Given the description of an element on the screen output the (x, y) to click on. 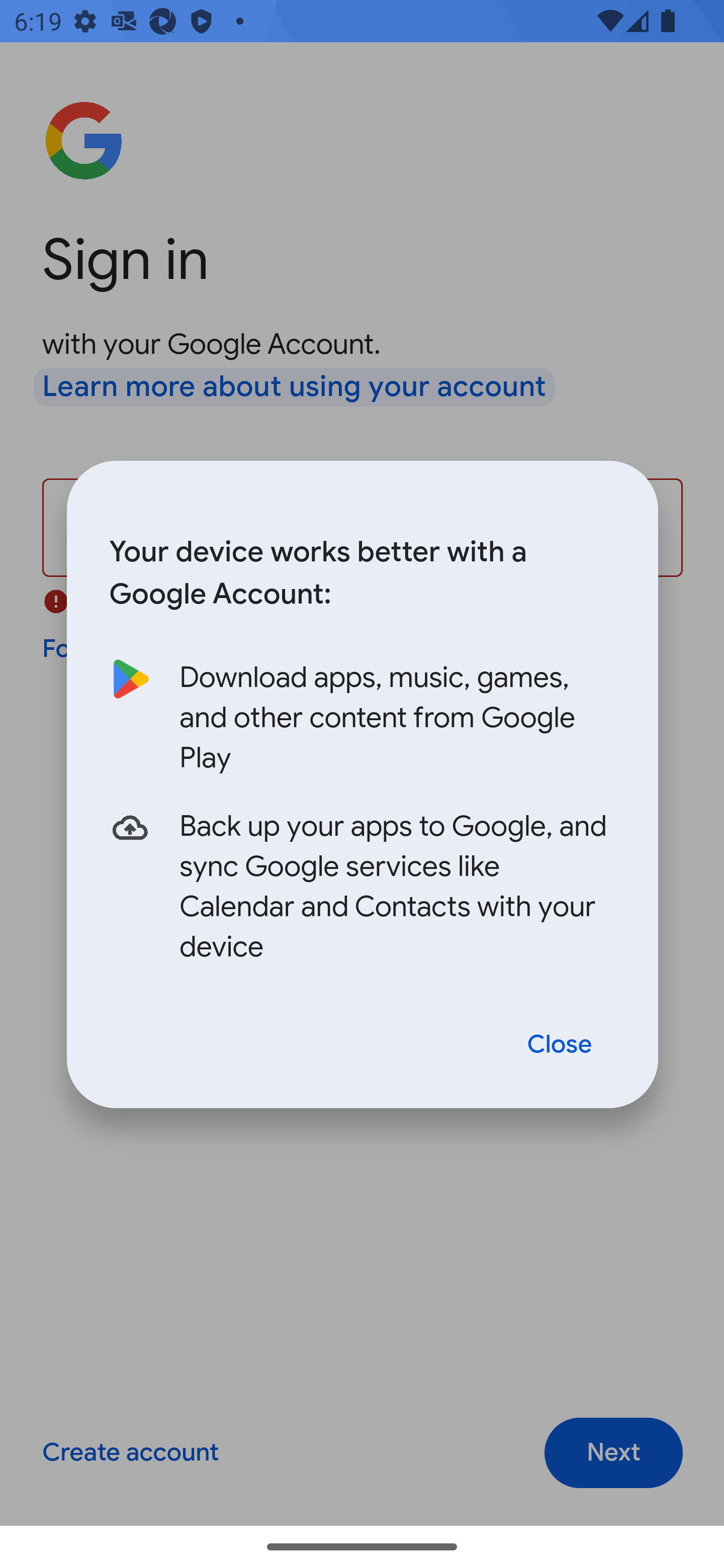
Close (560, 1044)
